Given the description of an element on the screen output the (x, y) to click on. 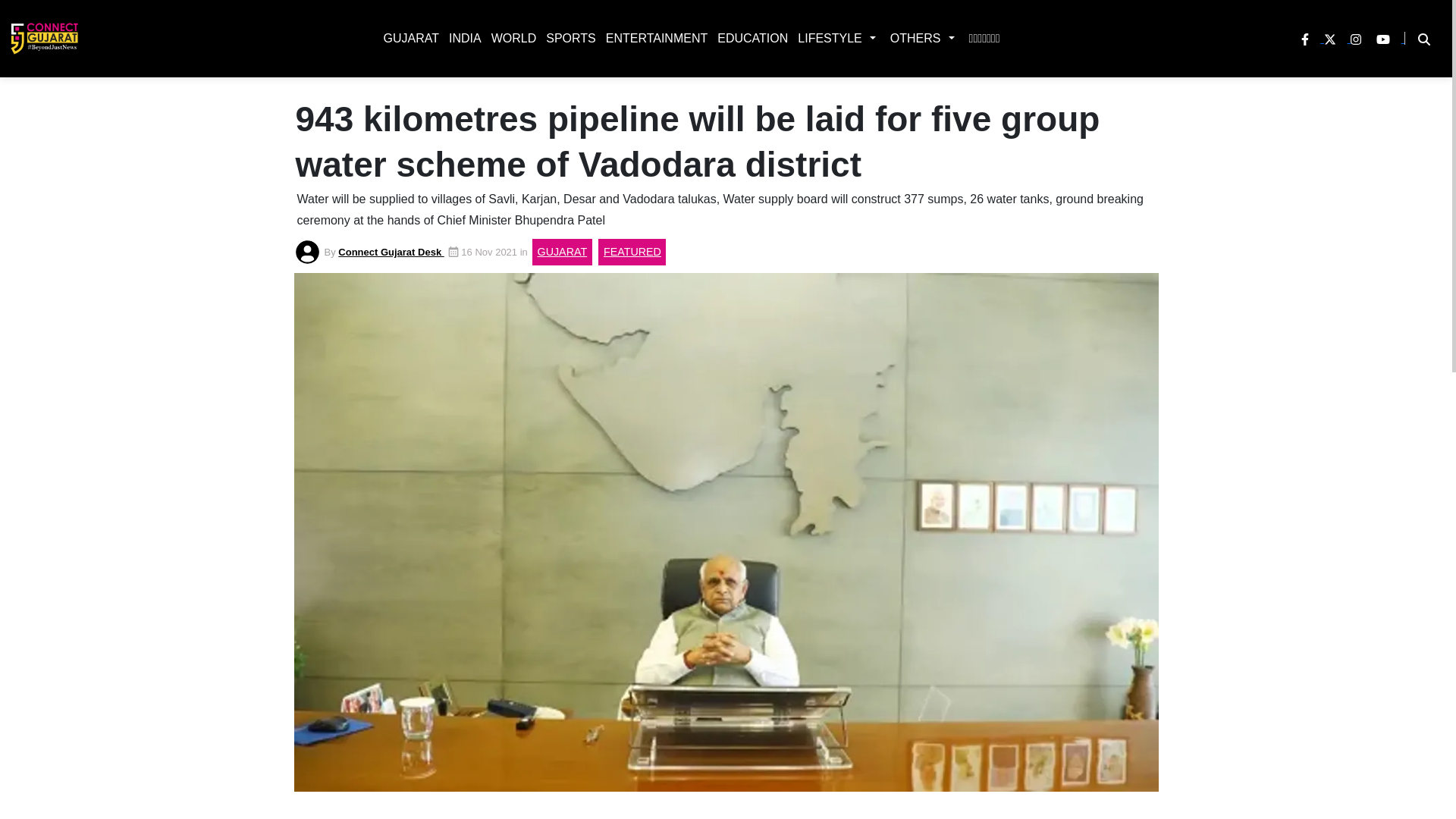
GUJARAT (407, 38)
EDUCATION (749, 38)
ENTERTAINMENT (653, 38)
LIFESTYLE (826, 38)
